Given the description of an element on the screen output the (x, y) to click on. 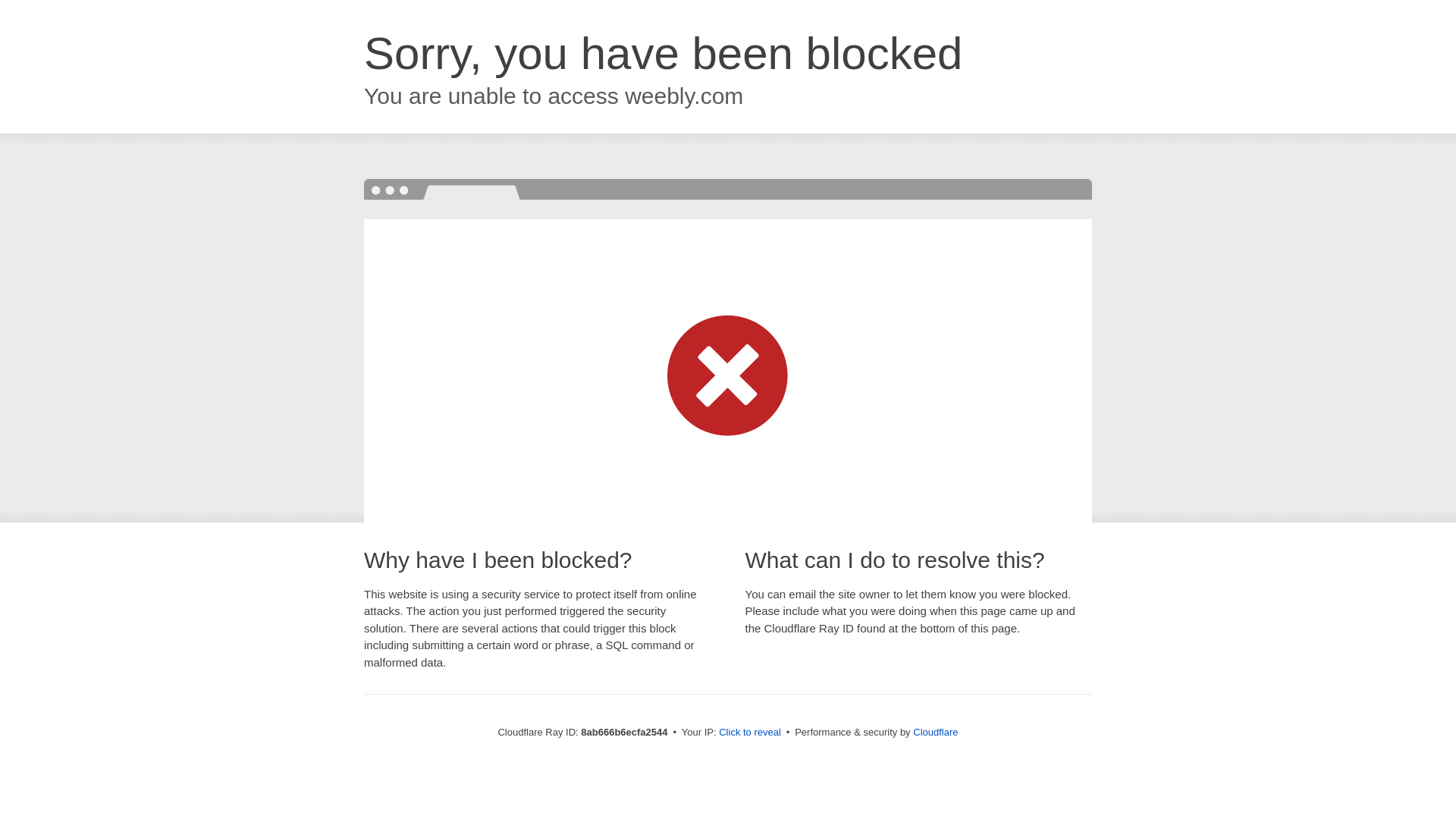
Cloudflare (935, 731)
Click to reveal (749, 732)
